Given the description of an element on the screen output the (x, y) to click on. 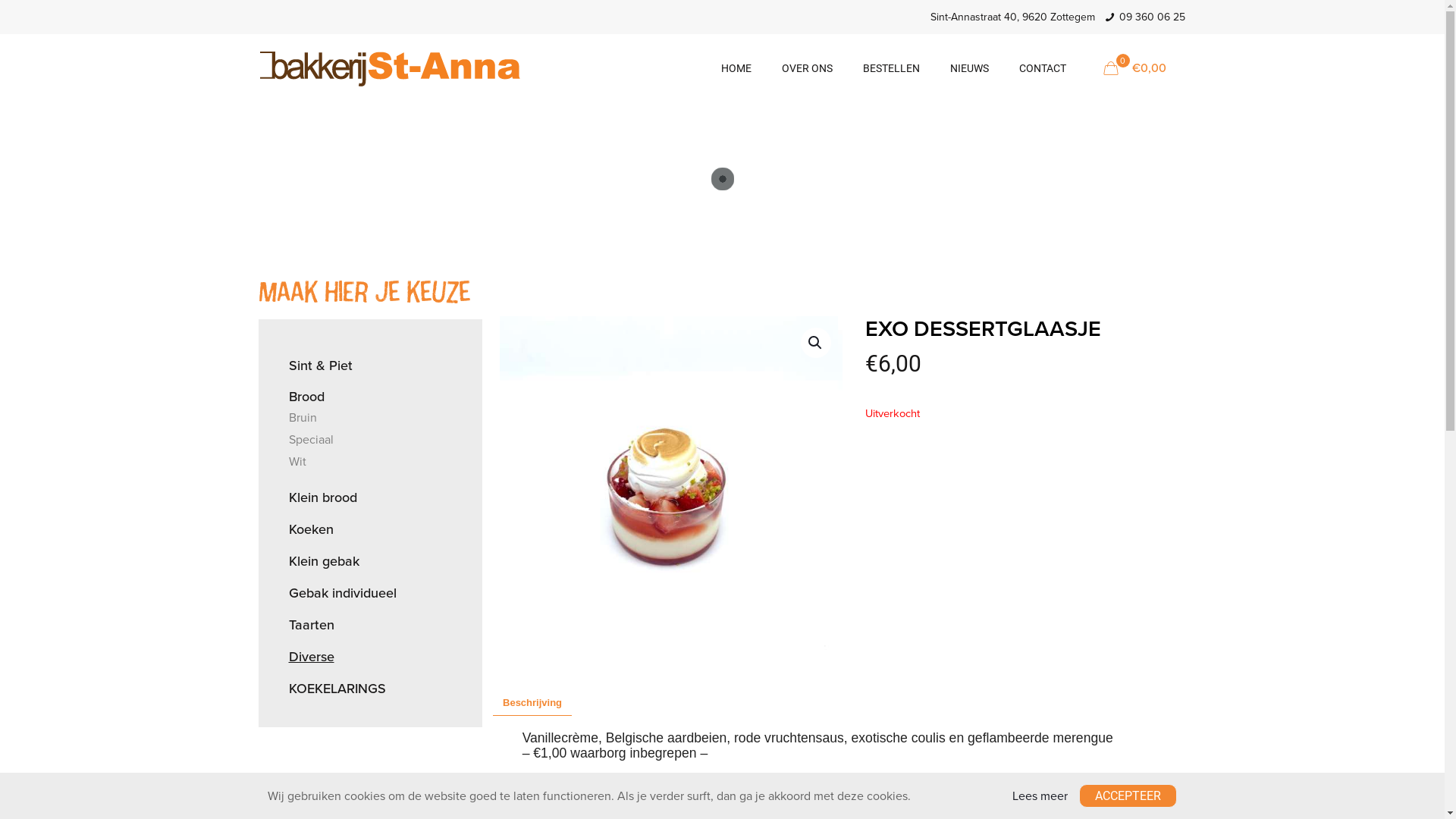
HOME Element type: text (735, 68)
Brood Element type: text (369, 393)
Speciaal Element type: text (369, 439)
Gebak individueel Element type: text (369, 592)
BESTELLEN Element type: text (891, 68)
Sint & Piet Element type: text (369, 365)
IMG_2964 Element type: hover (669, 487)
NIEUWS Element type: text (968, 68)
OVER ONS Element type: text (806, 68)
Beschrijving Element type: text (531, 702)
Lees meer Element type: text (1039, 795)
Diverse Element type: text (369, 656)
KOEKELARINGS Element type: text (369, 688)
Taarten Element type: text (369, 624)
Bakkerij Sint-Anna Zottegem Element type: hover (389, 68)
Bruin Element type: text (369, 417)
09 360 06 25 Element type: text (1152, 17)
Wit Element type: text (369, 465)
CONTACT Element type: text (1042, 68)
ACCEPTEER Element type: text (1127, 795)
Koeken Element type: text (369, 529)
Klein gebak Element type: text (369, 561)
Klein brood Element type: text (369, 497)
